Given the description of an element on the screen output the (x, y) to click on. 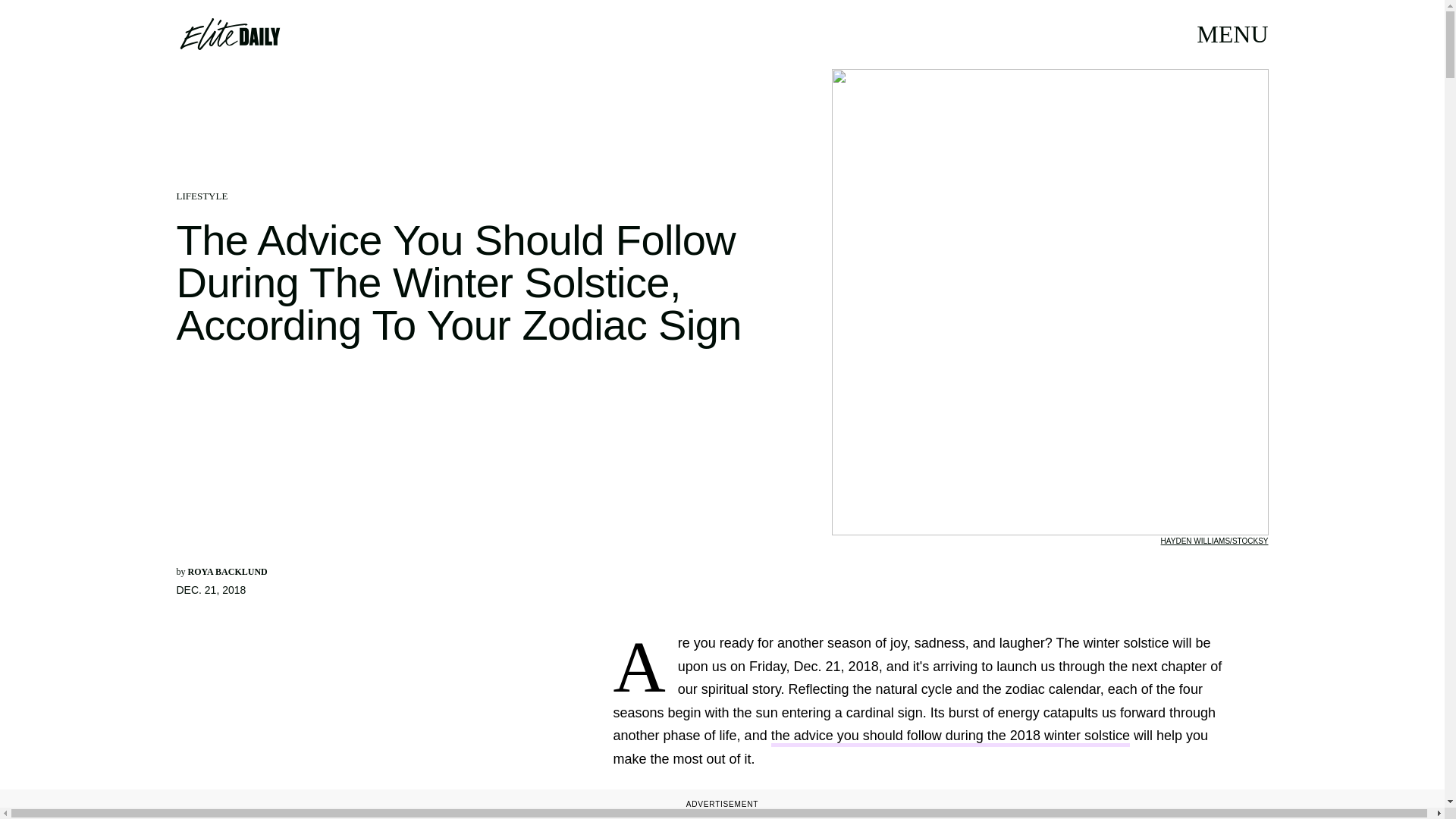
Elite Daily (229, 33)
the advice you should follow during the 2018 winter solstice (950, 737)
ROYA BACKLUND (227, 571)
